Given the description of an element on the screen output the (x, y) to click on. 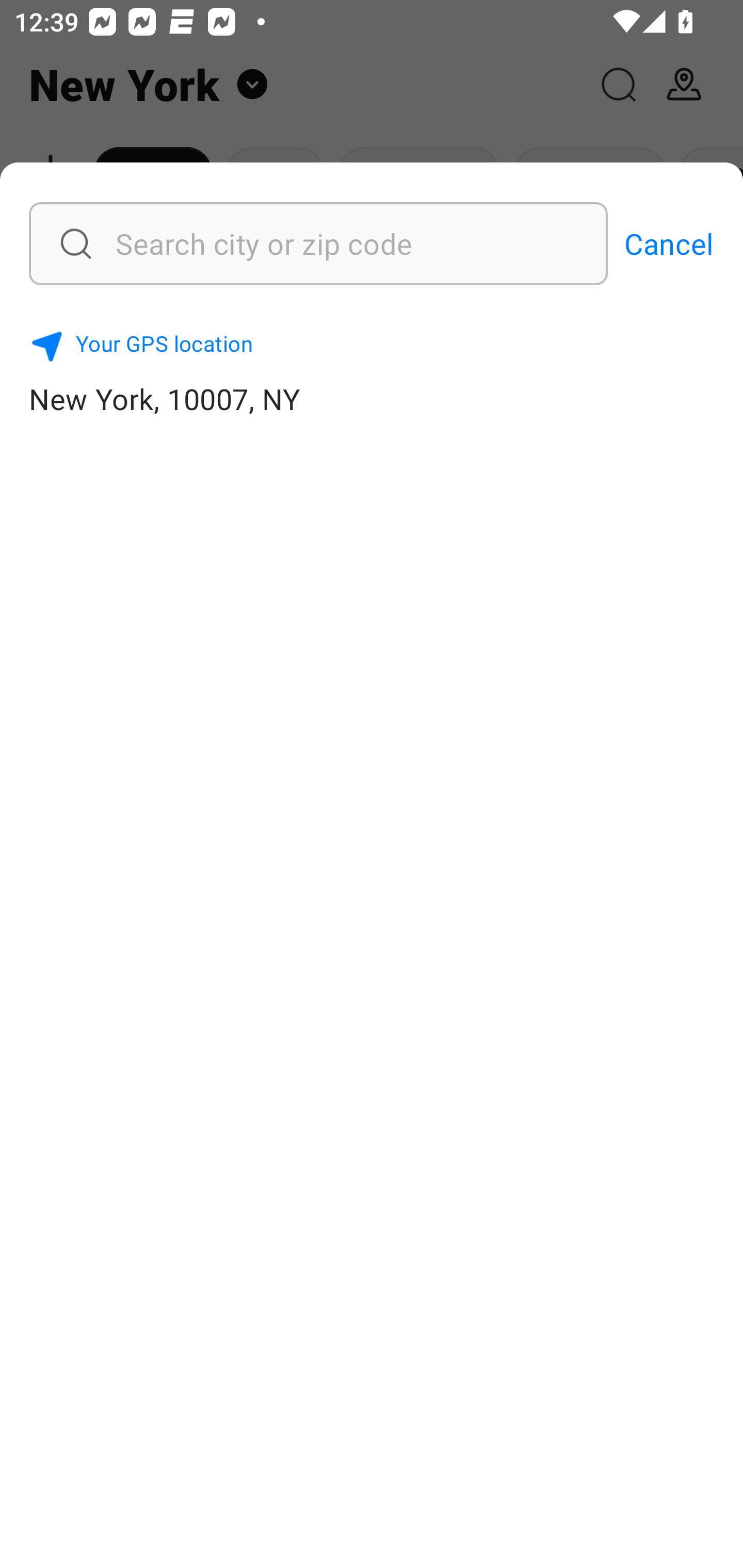
Search city or zip code (267, 243)
Cancel (669, 243)
Your GPS location New York, 10007, NY (371, 370)
